Given the description of an element on the screen output the (x, y) to click on. 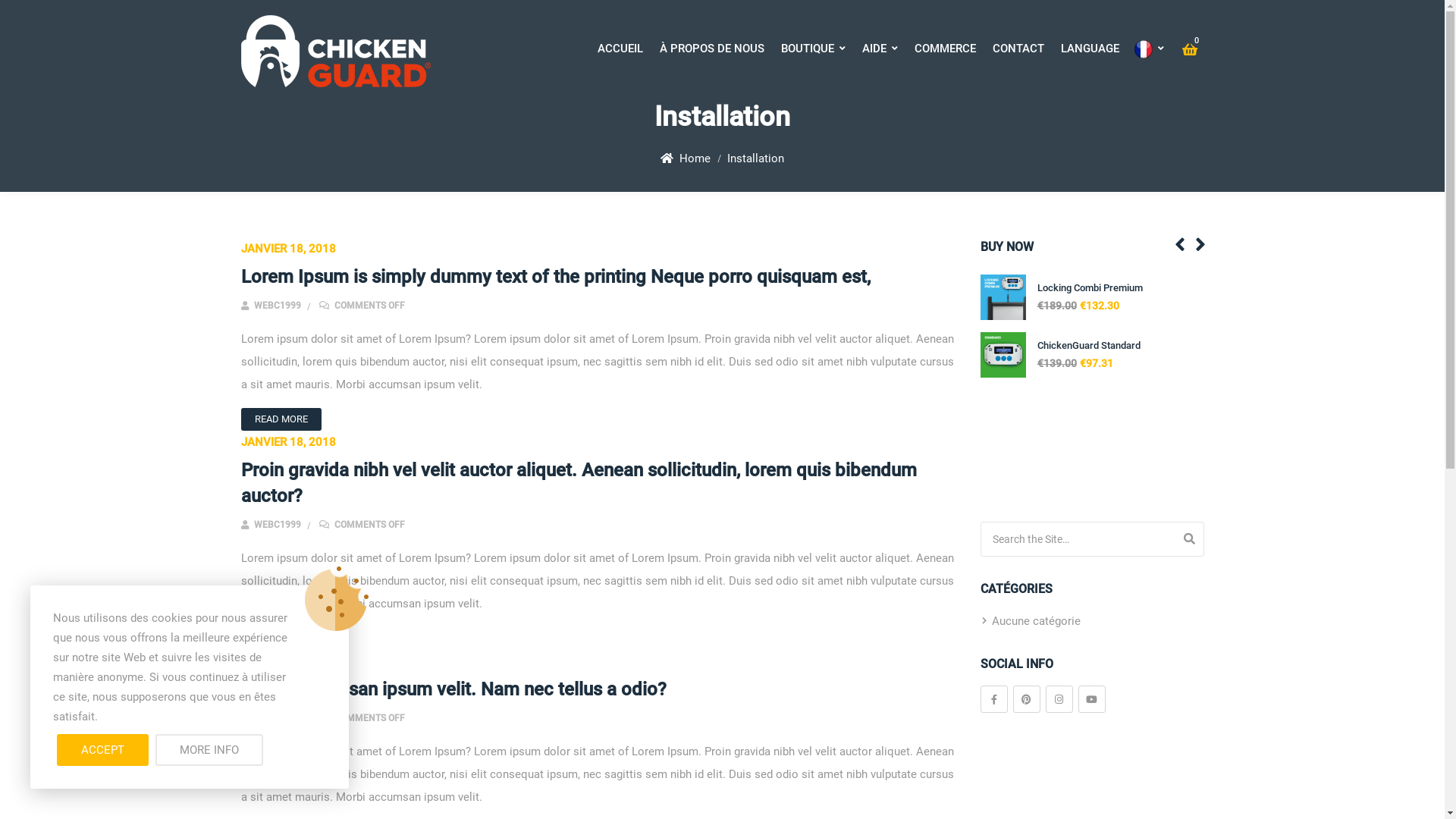
COMMERCE Element type: text (944, 48)
Youtube Element type: hover (1091, 698)
AIDE Element type: text (879, 48)
Locking Combi Extreme Element type: text (1088, 460)
Locking Combi Premium Element type: hover (1003, 297)
ChickenGuard Extreme Element type: text (1087, 345)
READ MORE Element type: text (281, 638)
READ MORE Element type: text (281, 418)
WEBC1999 Element type: text (271, 717)
Home Element type: text (694, 158)
WEBC1999 Element type: text (271, 524)
MORE INFO Element type: text (209, 749)
ACCEPT Element type: text (102, 749)
JANVIER 18, 2018 Element type: text (288, 661)
JANVIER 18, 2018 Element type: text (288, 248)
Morbi accumsan ipsum velit. Nam nec tellus a odio? Element type: text (453, 688)
LANGUAGE Element type: text (1111, 48)
ChickenGuard Standard Element type: hover (1003, 354)
Self-Locking Door Kit Element type: text (1083, 402)
BOUTIQUE Element type: text (813, 48)
Pinterest Element type: hover (1026, 698)
0 Element type: text (1188, 50)
CONTACT Element type: text (1017, 48)
ACCUEIL Element type: text (620, 48)
ChickenGuard Premium Element type: text (1088, 287)
Instagram Element type: hover (1058, 698)
Search Element type: text (1188, 538)
JANVIER 18, 2018 Element type: text (288, 441)
Facebook Element type: hover (993, 698)
WEBC1999 Element type: text (271, 305)
